Given the description of an element on the screen output the (x, y) to click on. 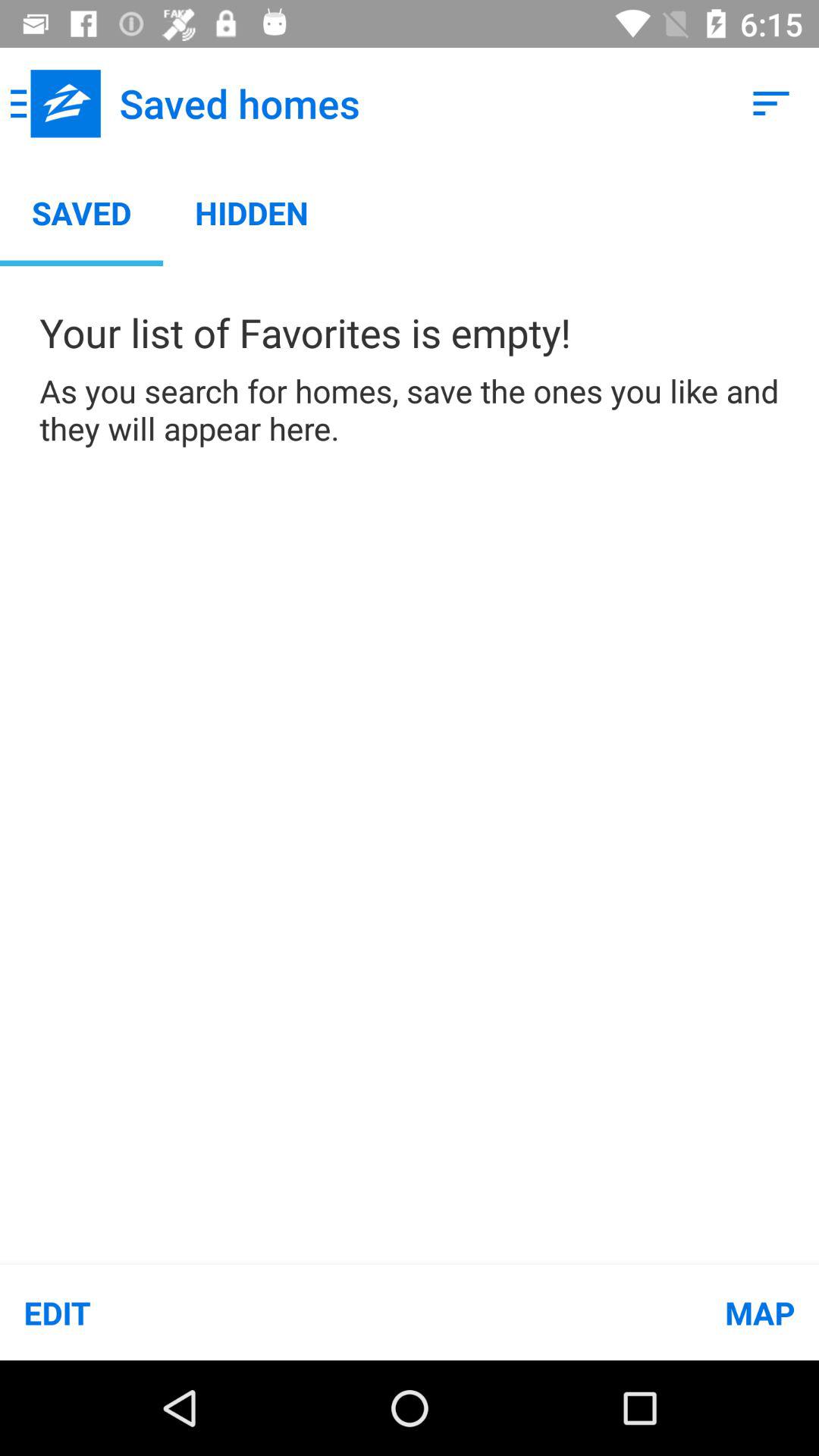
turn off item at the bottom left corner (204, 1312)
